Given the description of an element on the screen output the (x, y) to click on. 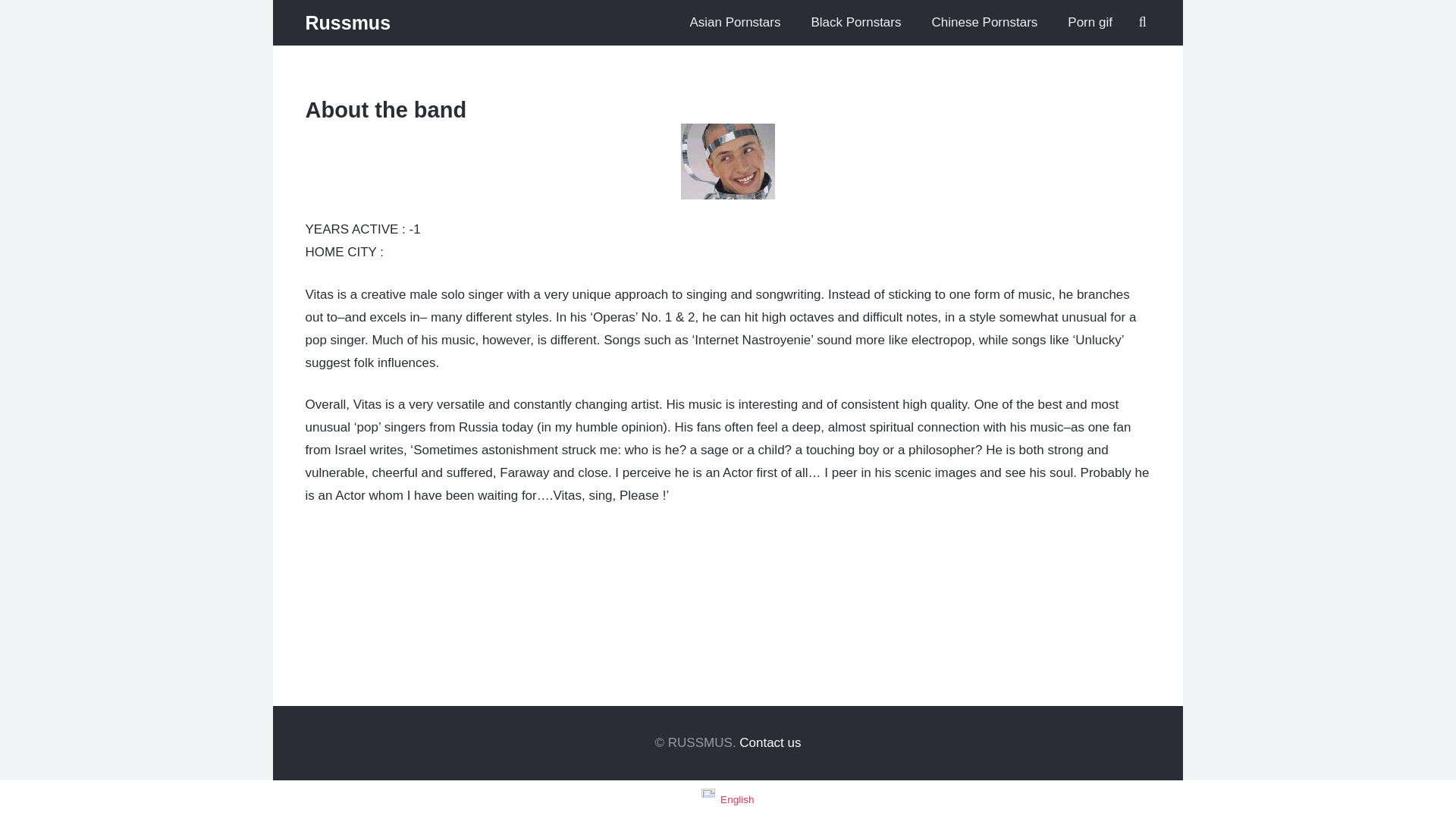
Asian Pornstars (734, 22)
Chinese Pornstars (983, 22)
Contact us (769, 742)
Porn gif (1089, 22)
English (727, 799)
Russmus (347, 22)
Black Pornstars (854, 22)
